Given the description of an element on the screen output the (x, y) to click on. 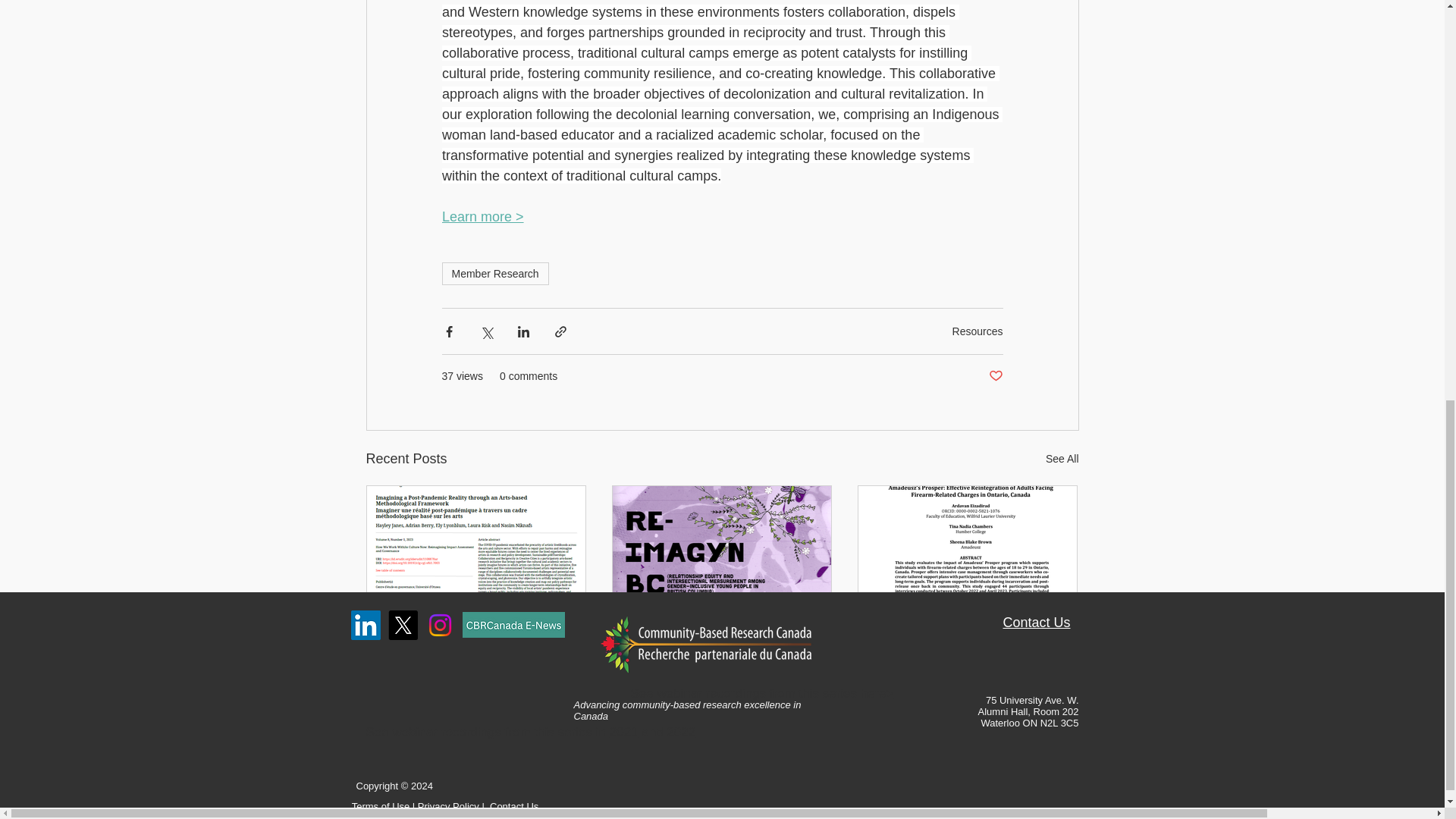
Resources (977, 331)
Member Research (494, 273)
